Given the description of an element on the screen output the (x, y) to click on. 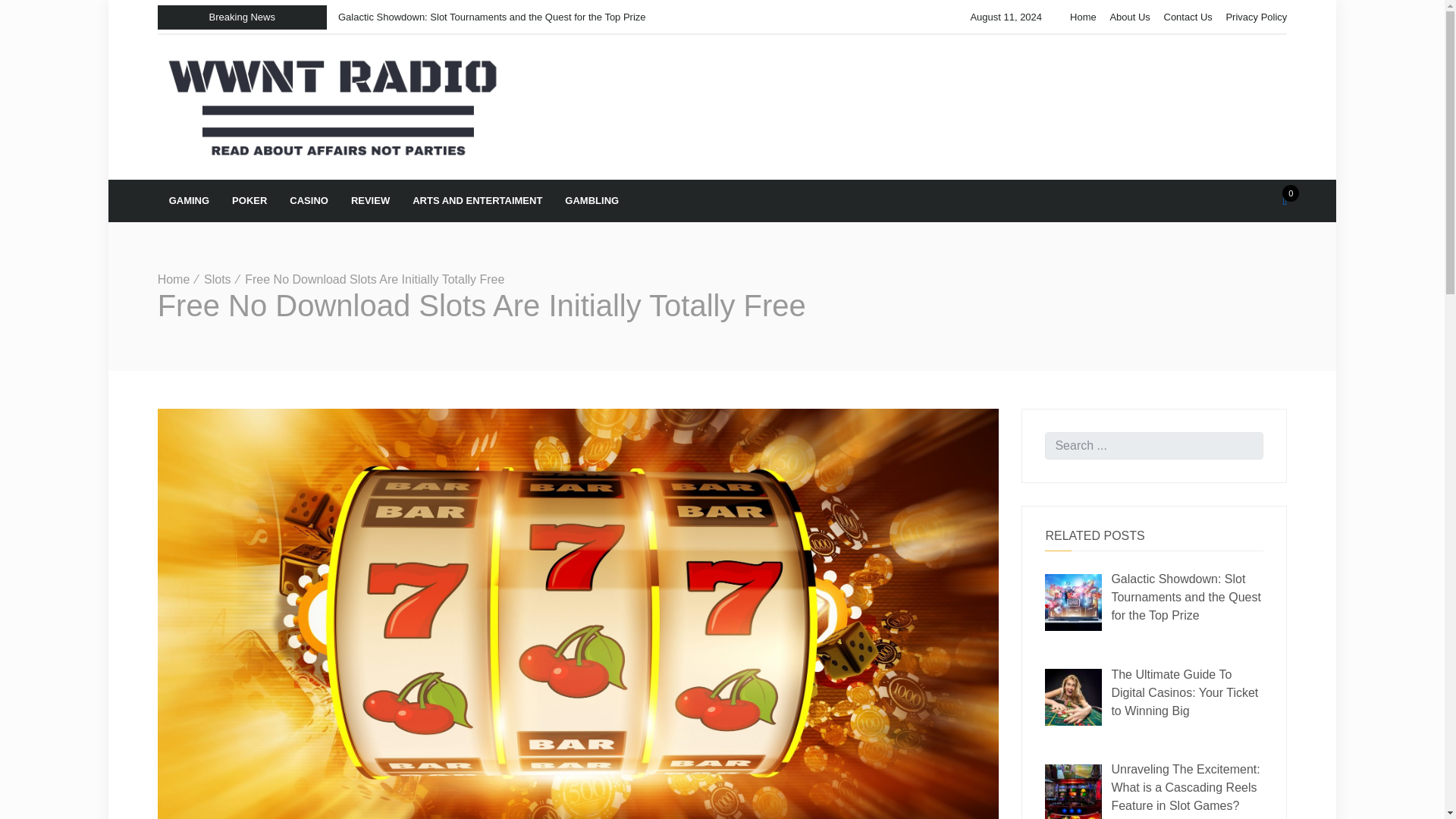
CASINO (308, 200)
GAMBLING (591, 200)
Home (173, 278)
REVIEW (370, 200)
Casino (308, 200)
Home (173, 278)
Arts and Entertaiment (477, 200)
